Given the description of an element on the screen output the (x, y) to click on. 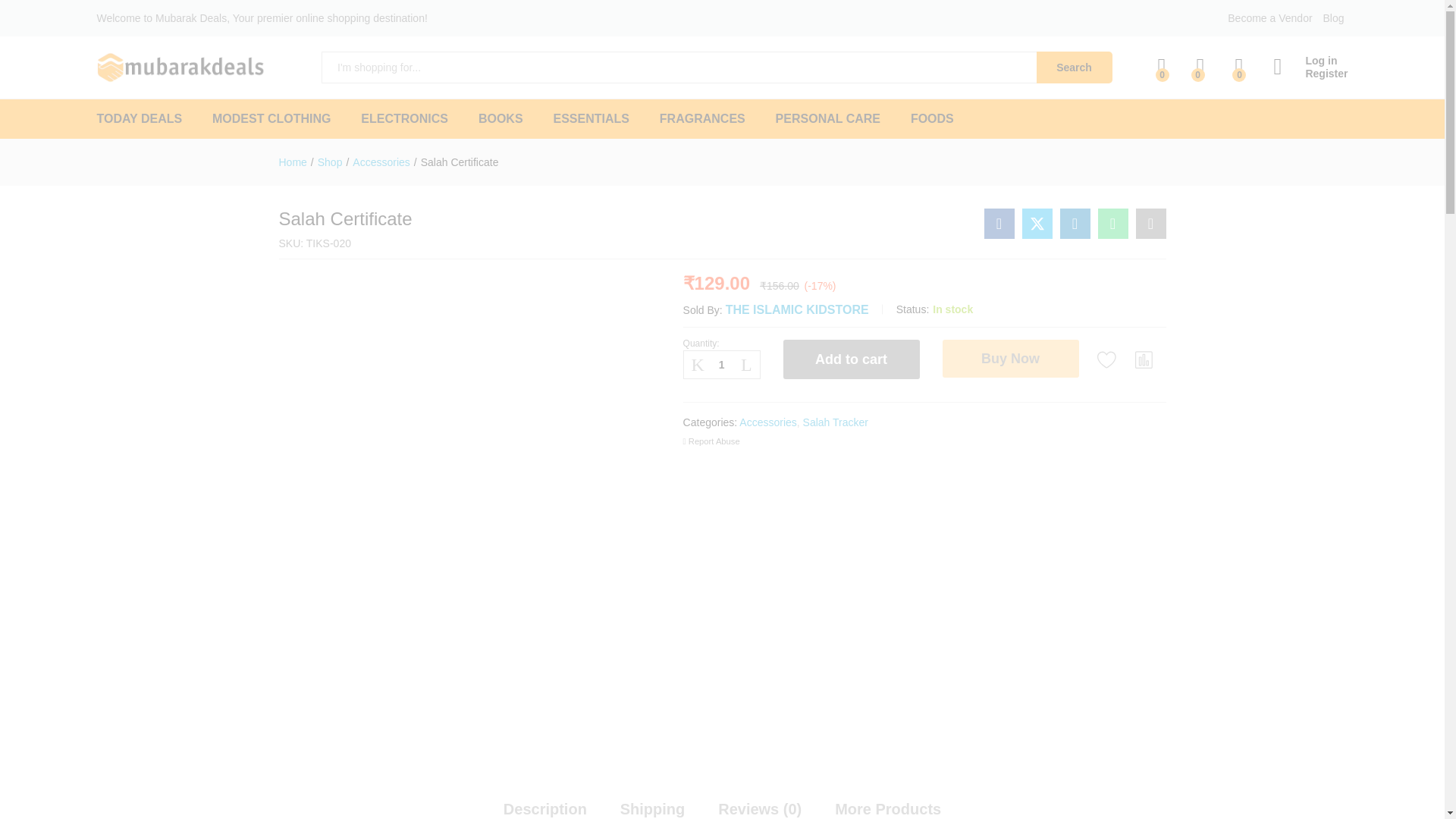
Become a Vendor (1269, 18)
Salah Certificate (999, 223)
Salah Certificate (1150, 223)
1 (721, 364)
TODAY DEALS (140, 119)
MODEST CLOTHING (271, 119)
Log in (1310, 60)
Blog (1332, 18)
Salah Certificate (1112, 223)
Qty (721, 364)
